Given the description of an element on the screen output the (x, y) to click on. 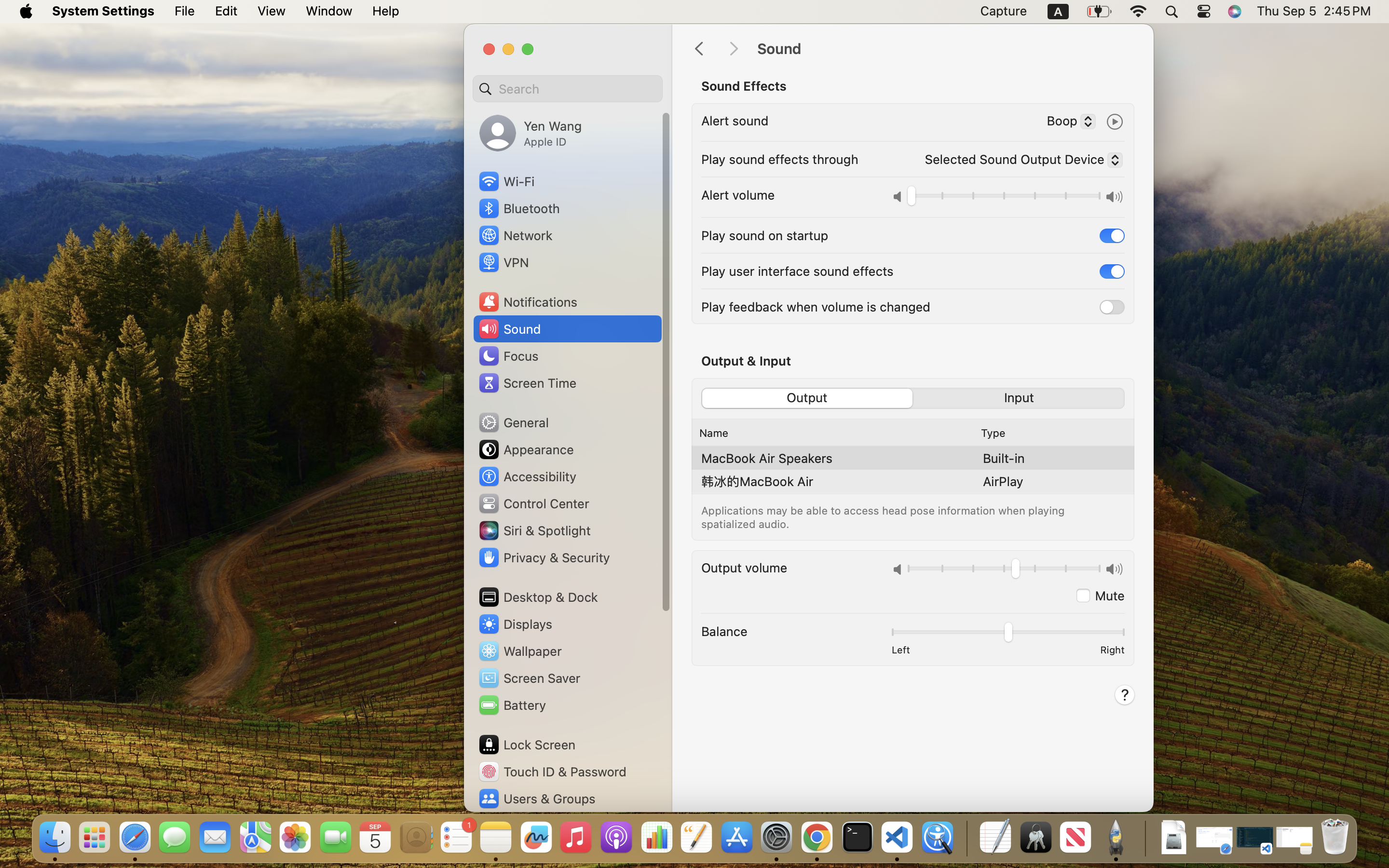
Lock Screen Element type: AXStaticText (526, 744)
Selected Sound Output Device Element type: AXPopUpButton (1019, 161)
Output volume Element type: AXStaticText (744, 566)
Appearance Element type: AXStaticText (525, 449)
Play user interface sound effects Element type: AXStaticText (797, 270)
